Given the description of an element on the screen output the (x, y) to click on. 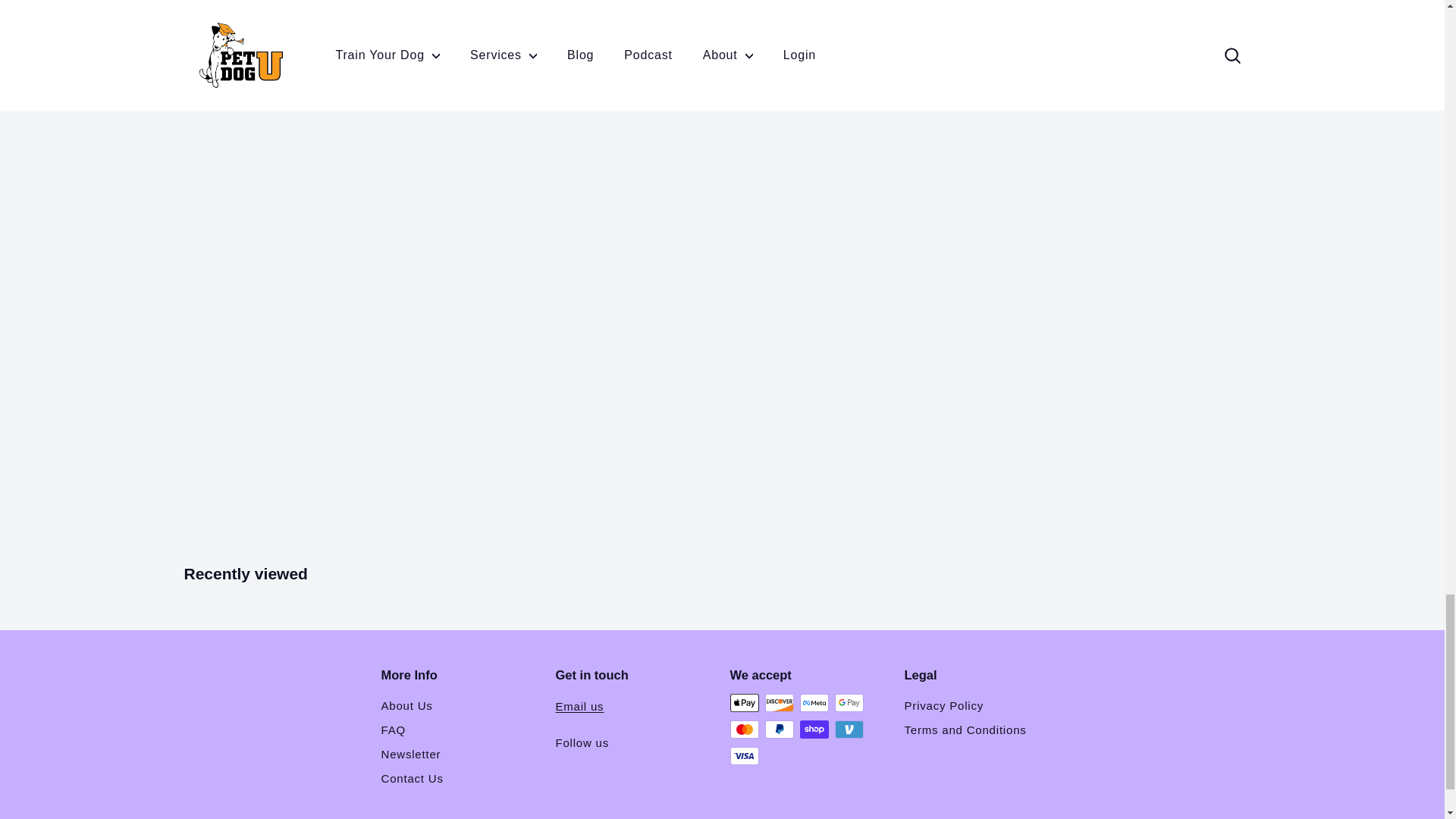
Apple Pay (743, 702)
Mastercard (743, 729)
PayPal (778, 729)
Google Pay (848, 702)
Meta Pay (813, 702)
Discover (778, 702)
